Given the description of an element on the screen output the (x, y) to click on. 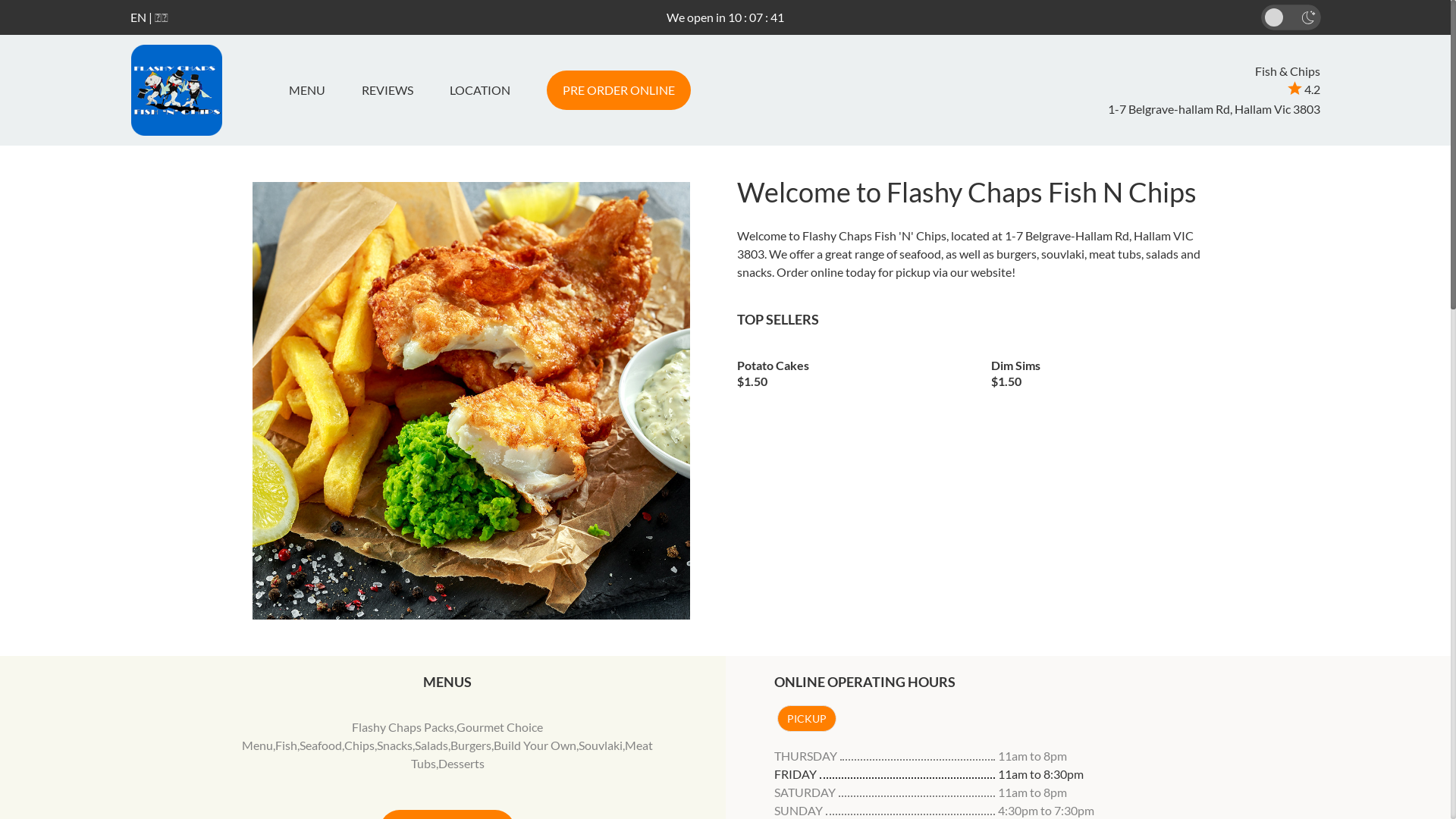
LOCATION Element type: text (478, 90)
Potato Cakes
$1.50 Element type: text (853, 368)
Seafood Element type: text (320, 744)
EN Element type: text (138, 16)
PICKUP Element type: text (805, 718)
PRE ORDER ONLINE Element type: text (618, 89)
REVIEWS Element type: text (386, 90)
4.2 Element type: text (1303, 88)
MENU Element type: text (312, 90)
Desserts Element type: text (461, 763)
Salads Element type: text (431, 744)
Souvlaki Element type: text (600, 744)
Fish Element type: text (286, 744)
Build Your Own Element type: text (534, 744)
Chips Element type: text (359, 744)
Burgers Element type: text (470, 744)
Snacks Element type: text (394, 744)
Flashy Chaps Packs Element type: text (402, 726)
Dim Sims
$1.50 Element type: text (1107, 368)
Gourmet Choice Menu Element type: text (391, 735)
Meat Tubs Element type: text (532, 753)
